Given the description of an element on the screen output the (x, y) to click on. 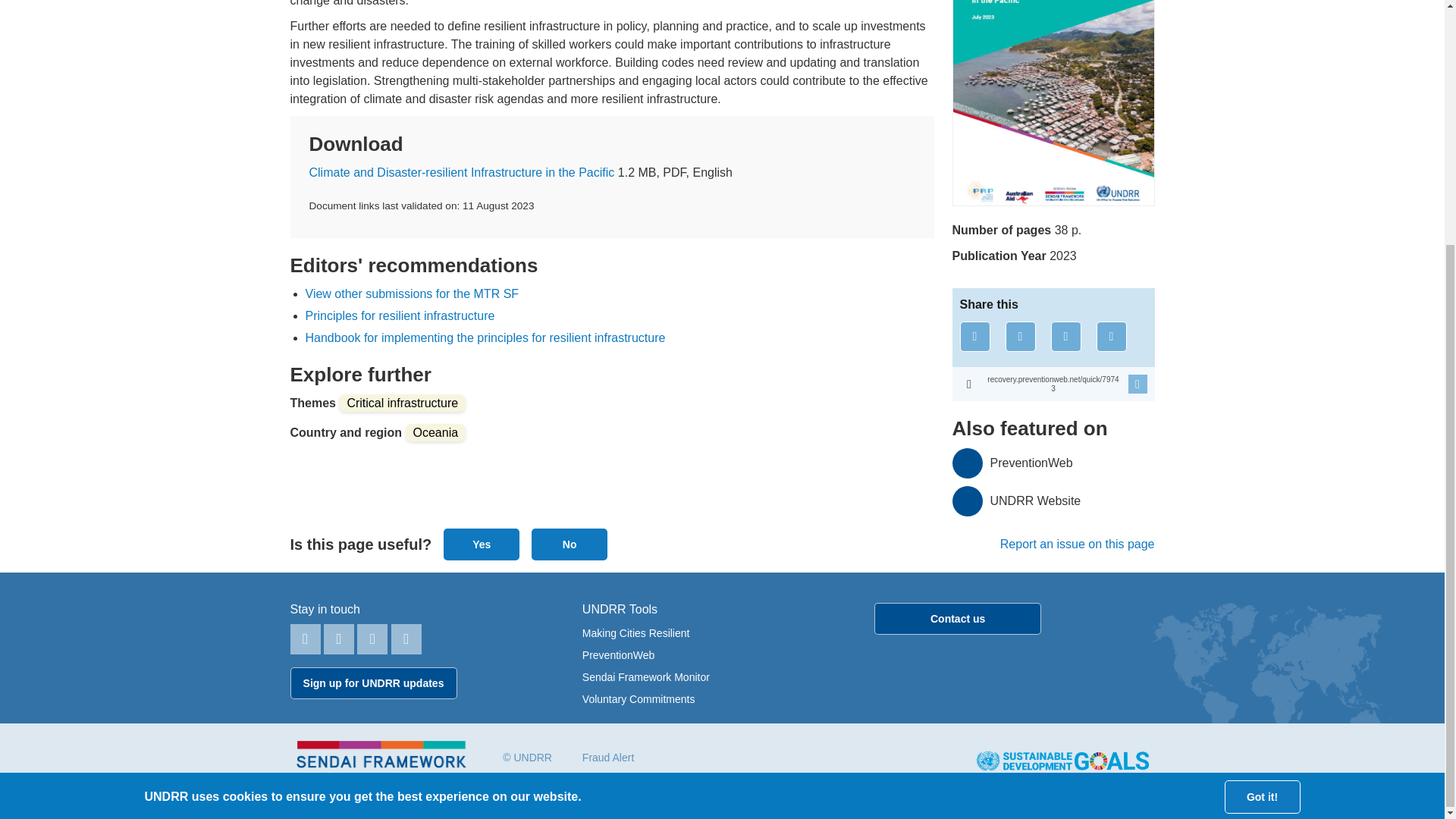
Share on LinkedIn (1066, 336)
Share via Email (1111, 336)
Sendai Voluntary Commitments tool (638, 698)
Copy to Clipboard (1053, 383)
Share on Facebook (974, 336)
Share on Twitter (1020, 336)
